Given the description of an element on the screen output the (x, y) to click on. 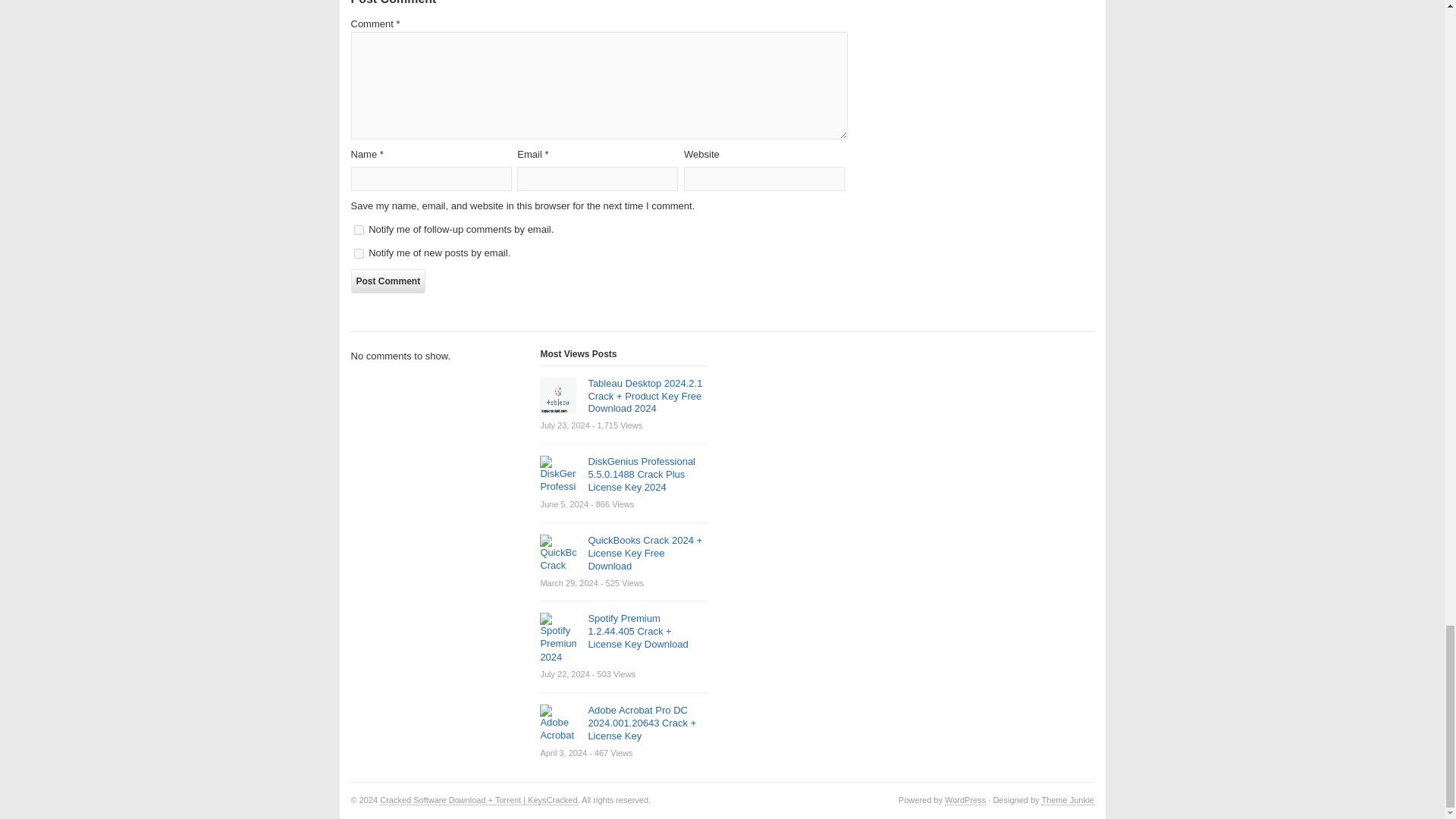
subscribe (357, 253)
Premium WordPress Themes (1067, 800)
Post Comment (387, 281)
subscribe (357, 230)
